Given the description of an element on the screen output the (x, y) to click on. 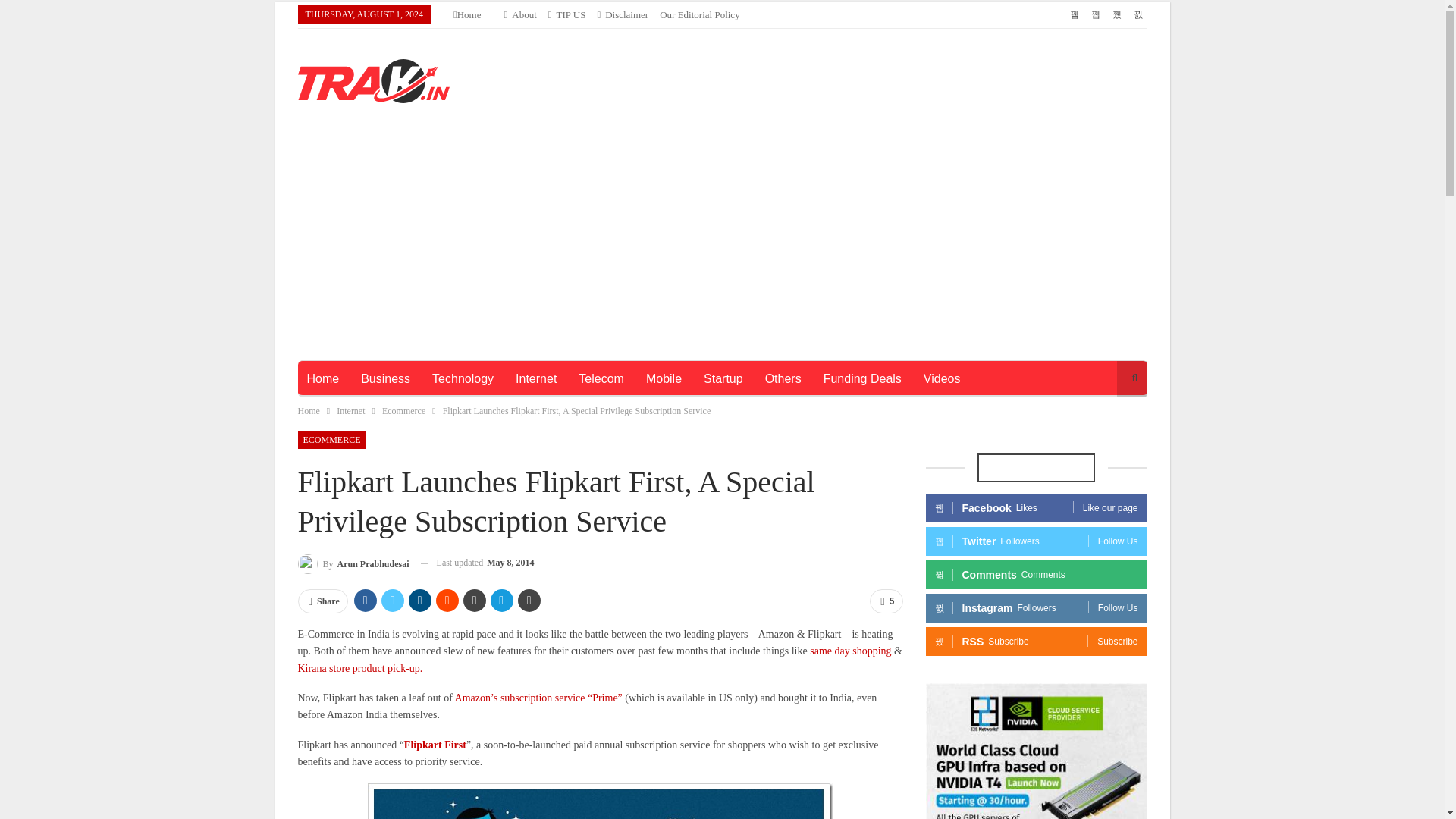
Home (467, 14)
ECOMMERCE (331, 439)
Funding Deals (862, 379)
Flipkart First (434, 745)
Flipkart First (434, 745)
About (520, 14)
Kirana store product pick-up. (359, 668)
Home (322, 379)
Disclaimer (621, 14)
Startup (723, 379)
Browse Author Articles (353, 562)
Our Editorial Policy (699, 14)
Others (782, 379)
Home (307, 410)
Technology (462, 379)
